Given the description of an element on the screen output the (x, y) to click on. 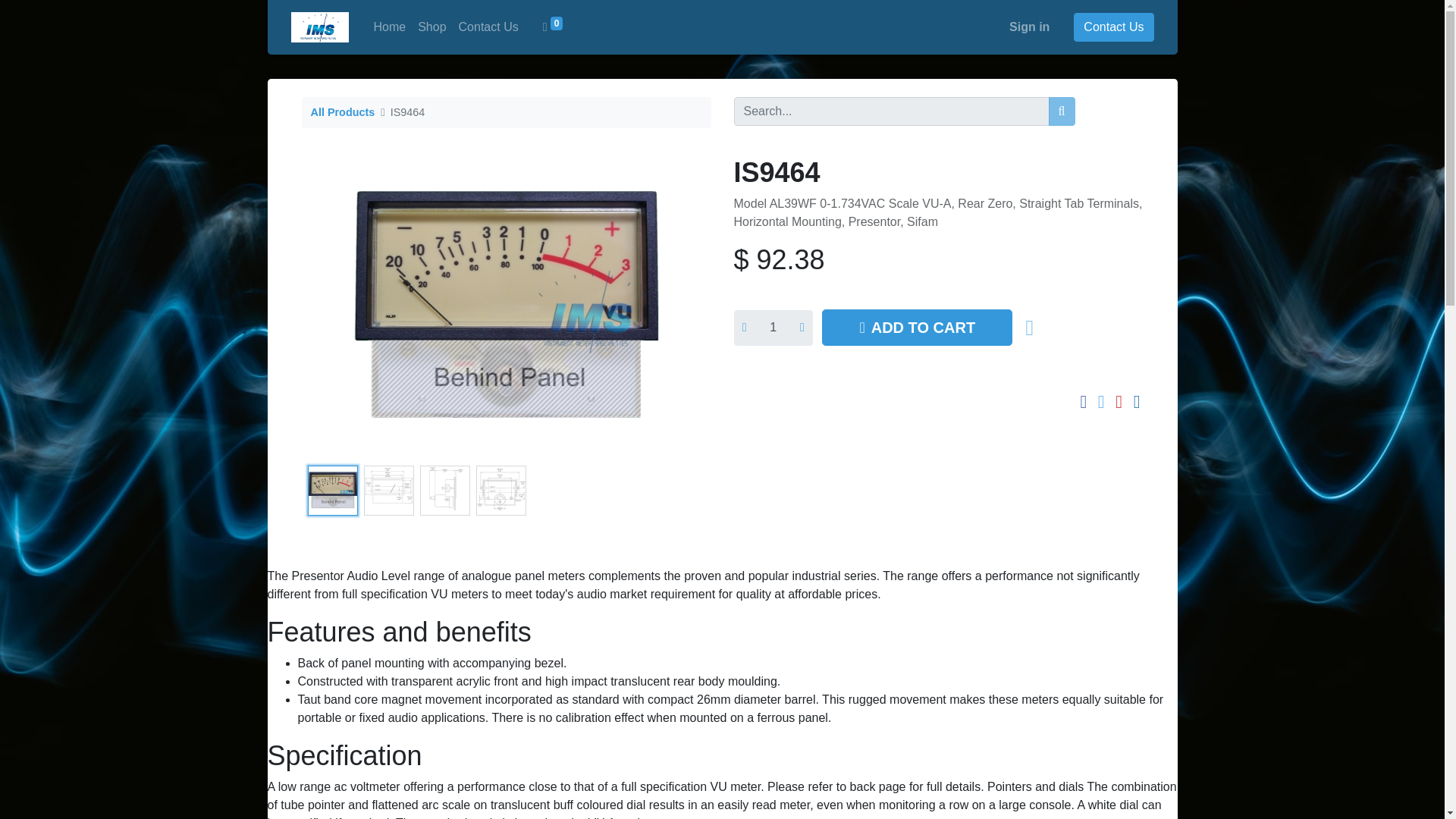
Contact Us (488, 27)
0 (553, 27)
All Products (343, 111)
Home (389, 27)
www.metersales.com (320, 27)
ADD TO CART (916, 327)
Sign in (1029, 27)
Shop (431, 27)
1 (773, 327)
Contact Us (1113, 27)
